Given the description of an element on the screen output the (x, y) to click on. 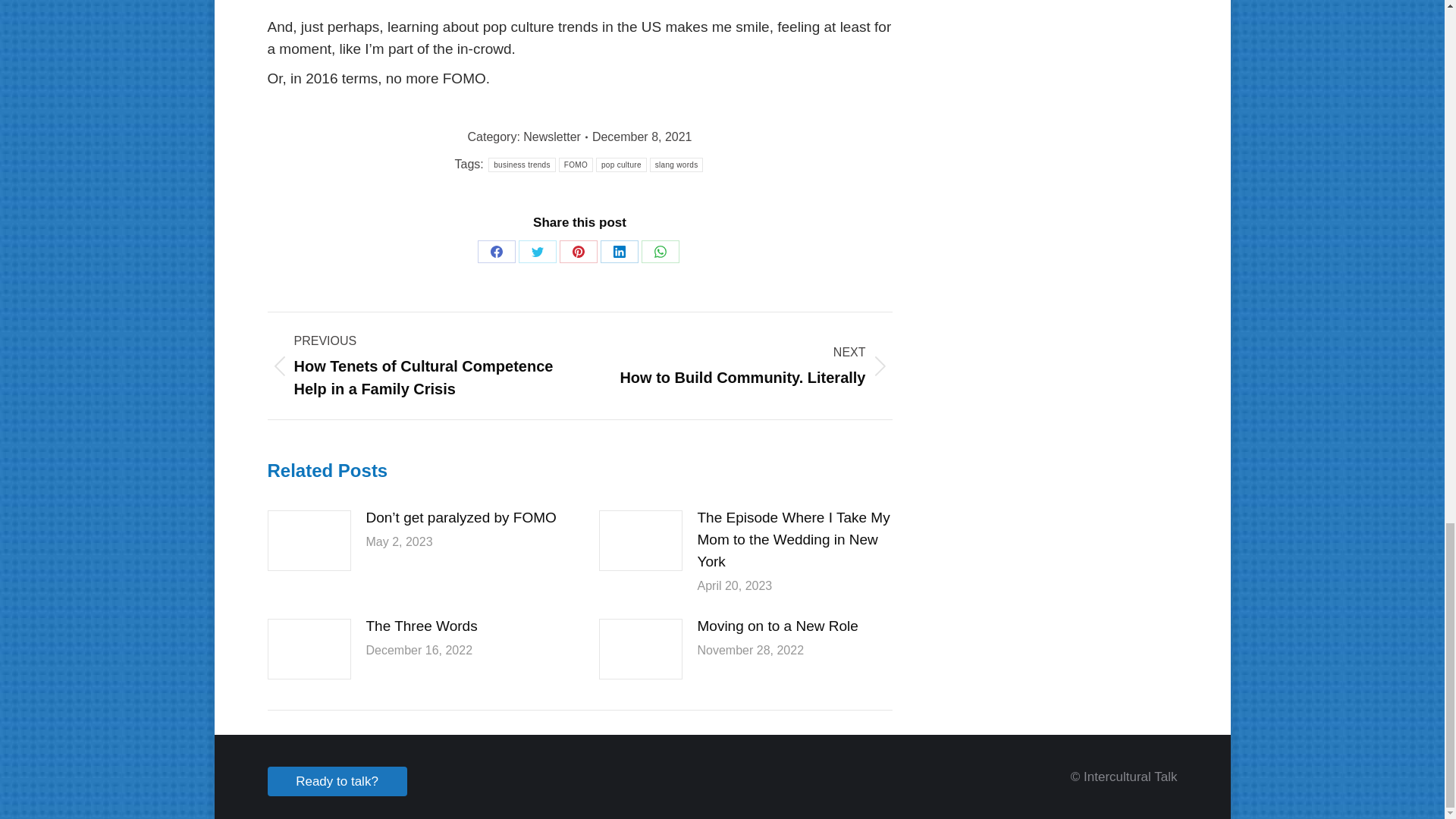
pop culture (620, 164)
December 8, 2021 (642, 137)
2:16 pm (642, 137)
business trends (521, 164)
LinkedIn (619, 251)
Pinterest (577, 251)
FOMO (575, 164)
Twitter (537, 251)
Facebook (496, 251)
WhatsApp (660, 251)
